Given the description of an element on the screen output the (x, y) to click on. 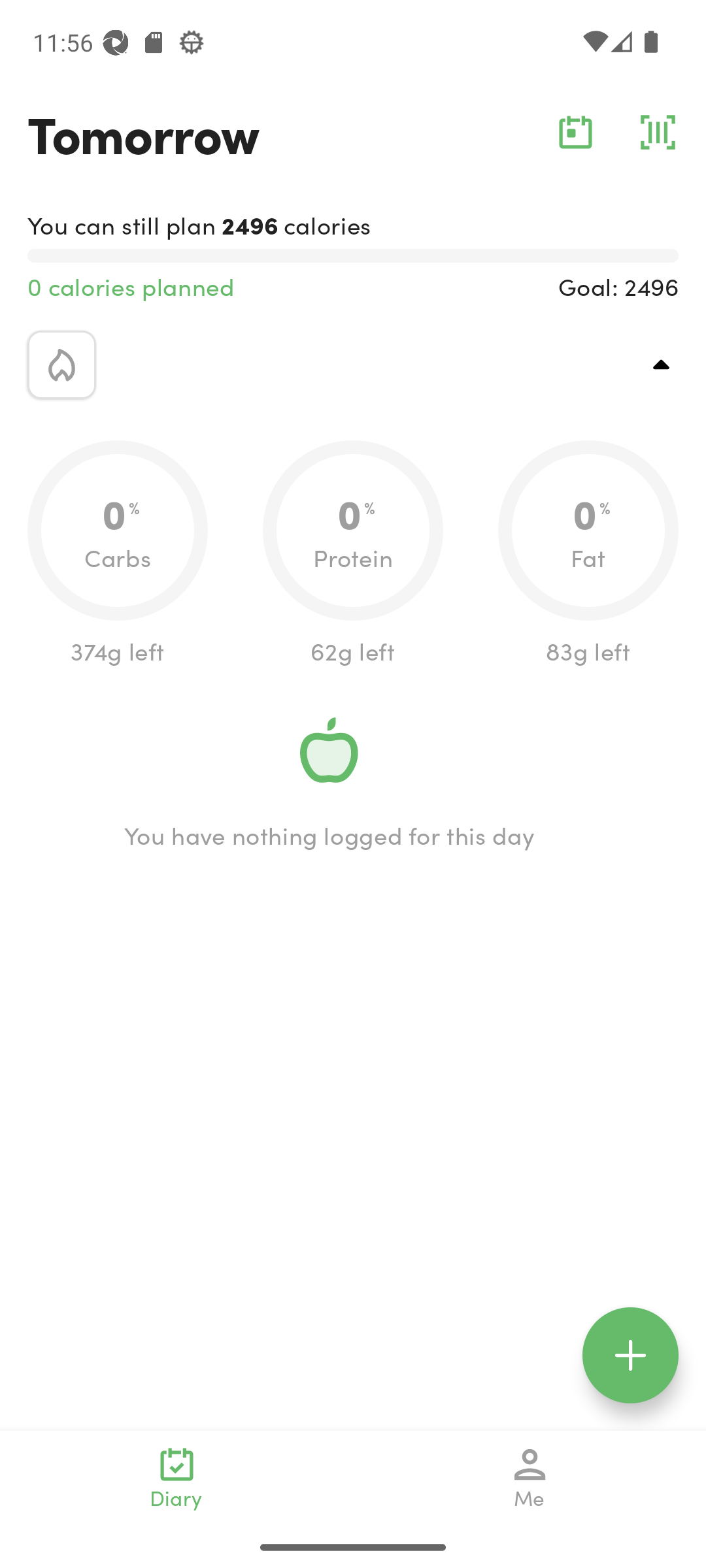
calendar_action (575, 132)
barcode_action (658, 132)
calorie_icon (62, 365)
top_right_action (661, 365)
0.0 0 % Carbs 374g left (117, 553)
0.0 0 % Protein 62g left (352, 553)
0.0 0 % Fat 83g left (588, 553)
floating_action_icon (630, 1355)
Me navigation_icon (529, 1478)
